Given the description of an element on the screen output the (x, y) to click on. 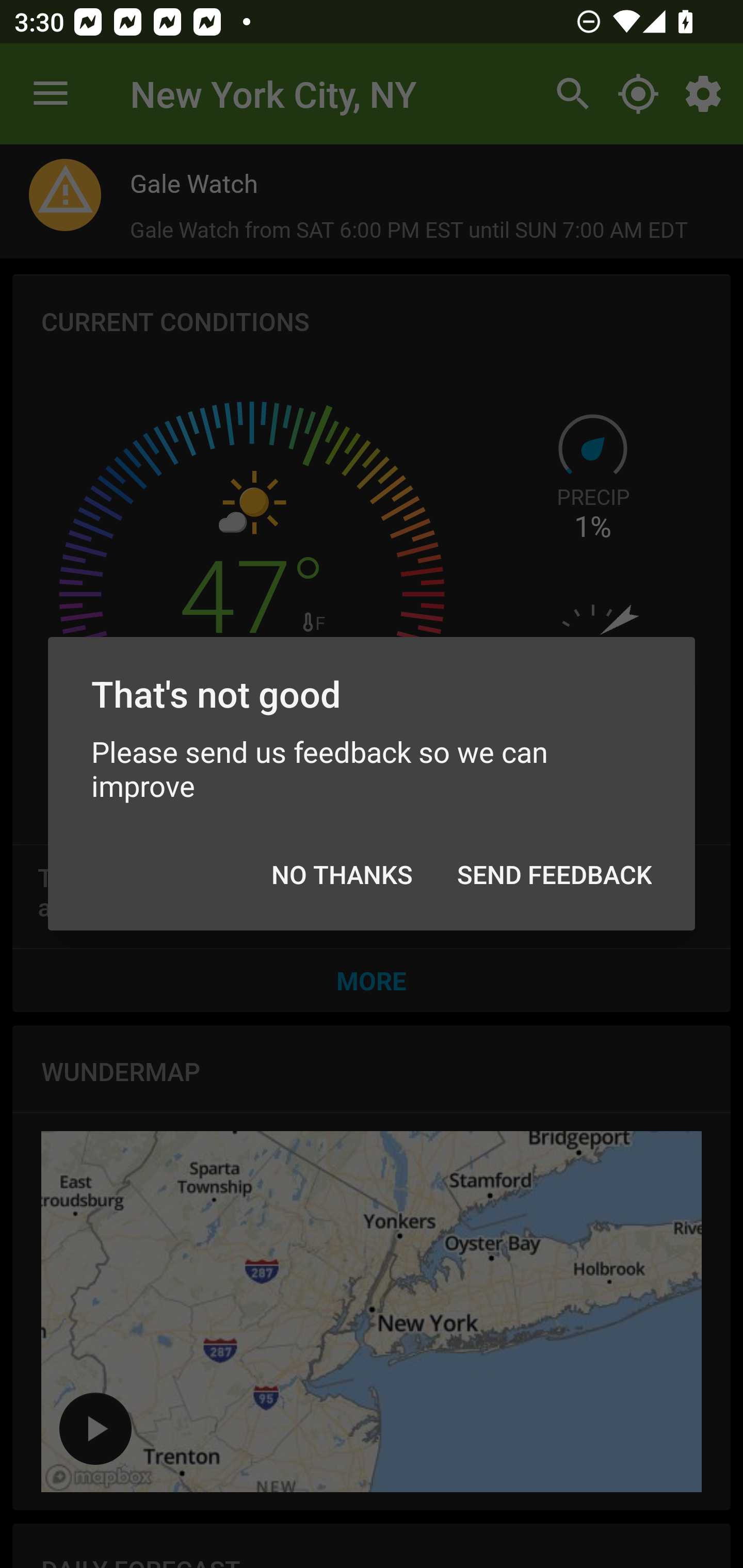
NO THANKS (341, 874)
SEND FEEDBACK (553, 874)
